Given the description of an element on the screen output the (x, y) to click on. 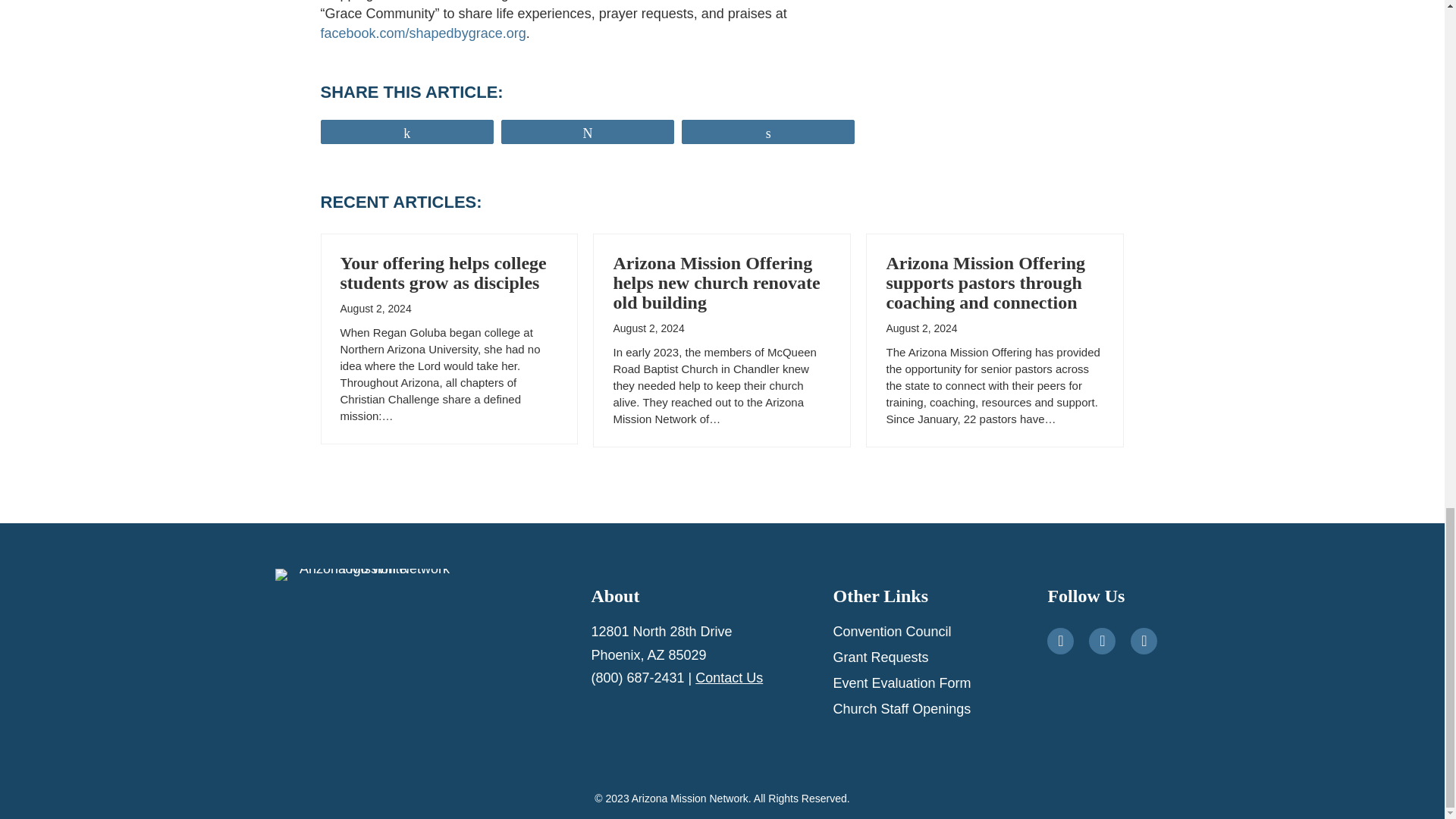
Your offering helps college students grow as disciples (442, 272)
Arizona Mission Network logo White (368, 574)
